Given the description of an element on the screen output the (x, y) to click on. 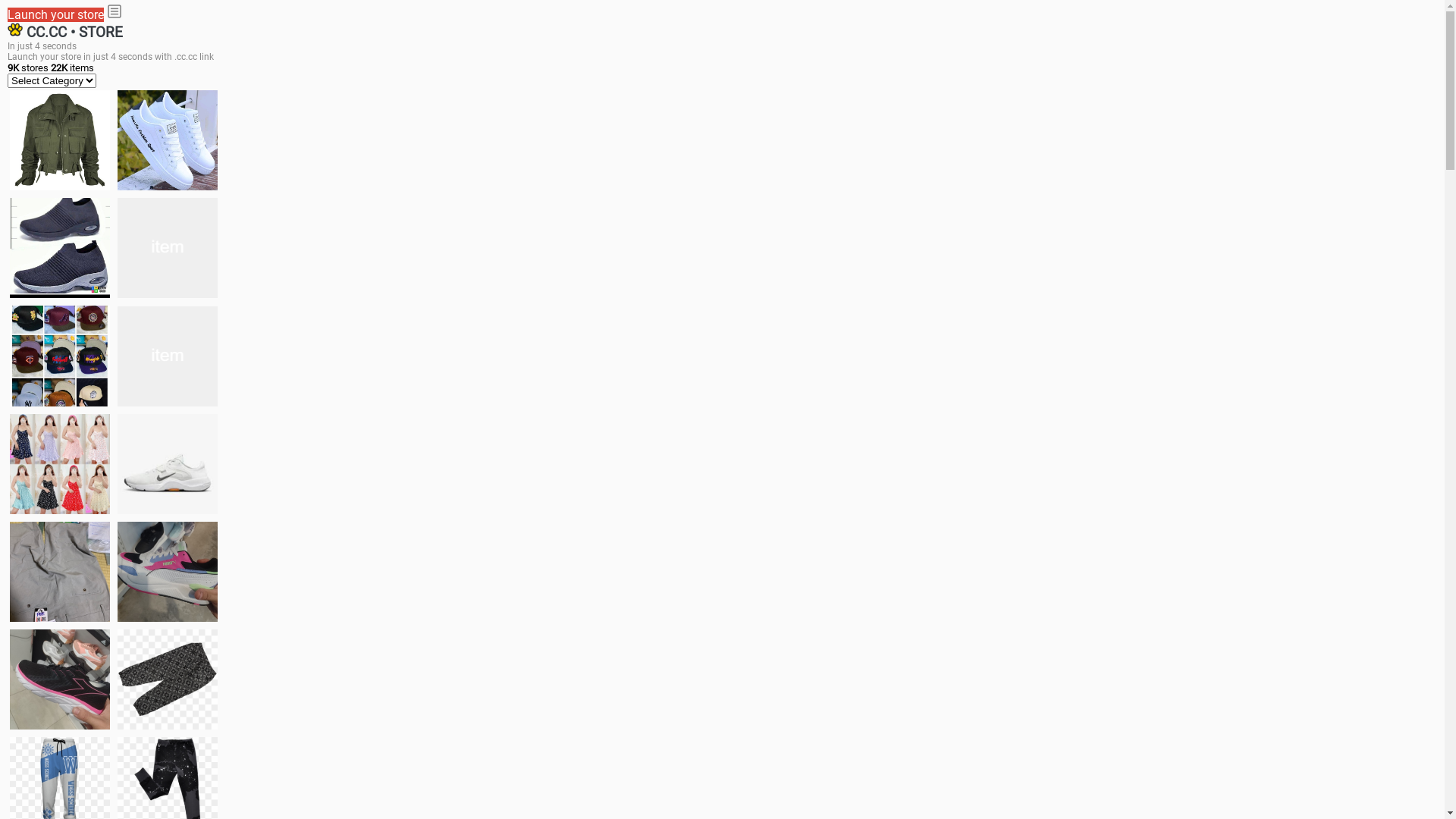
Shoes Element type: hover (167, 464)
Things we need Element type: hover (59, 355)
Zapatillas Element type: hover (59, 679)
Zapatillas pumas Element type: hover (167, 571)
jacket Element type: hover (59, 140)
Launch your store Element type: text (55, 14)
Ukay cloth Element type: hover (167, 356)
shoes for boys Element type: hover (59, 247)
white shoes Element type: hover (167, 140)
Dress/square nect top Element type: hover (59, 464)
Short pant Element type: hover (167, 679)
Shoes for boys Element type: hover (167, 247)
